Given the description of an element on the screen output the (x, y) to click on. 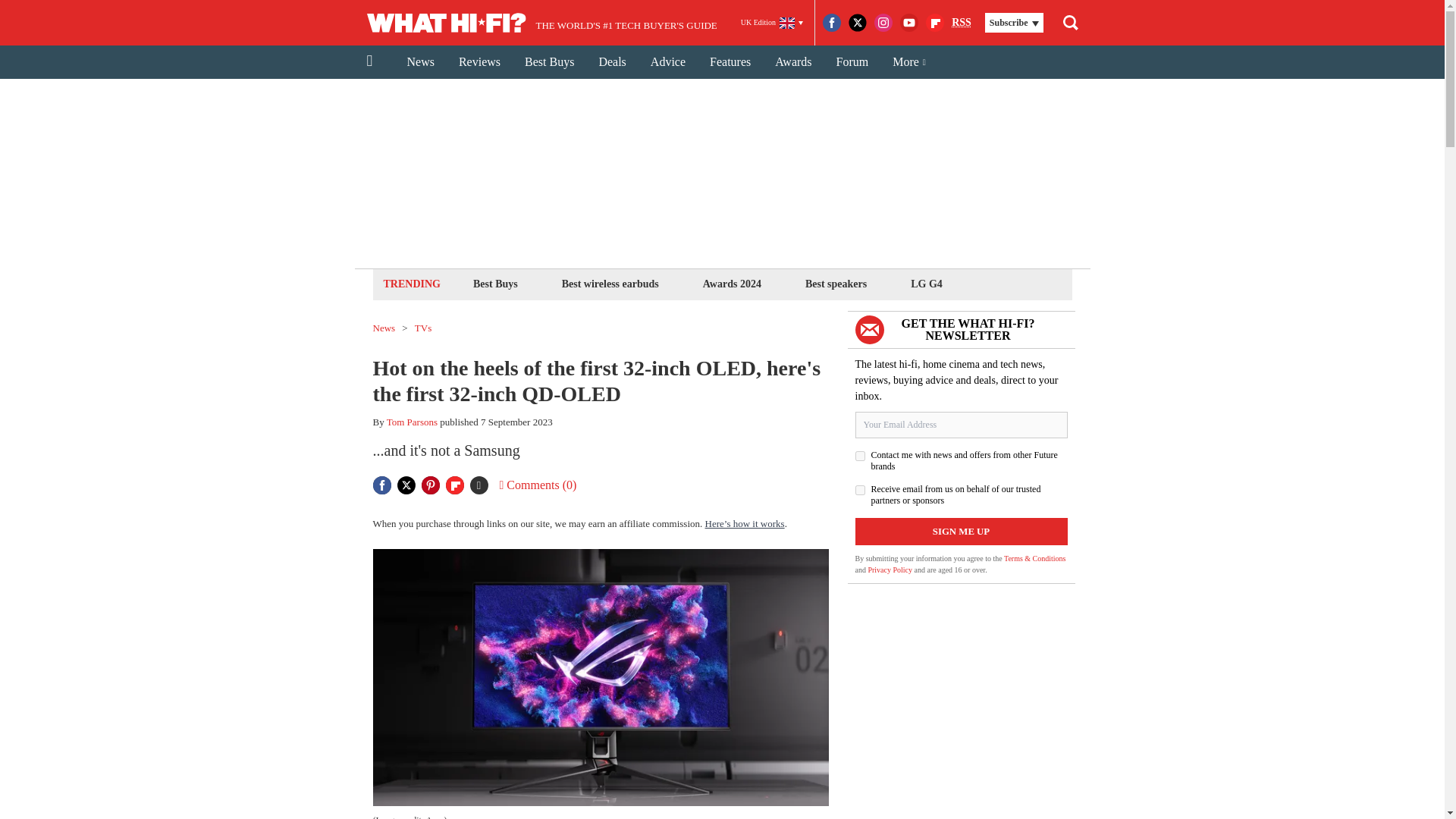
Awards (793, 61)
on (860, 490)
on (860, 456)
Sign me up (961, 531)
Tom Parsons (412, 421)
Really Simple Syndication (961, 21)
UK Edition (771, 22)
News (419, 61)
Advice (668, 61)
Forum (852, 61)
